Given the description of an element on the screen output the (x, y) to click on. 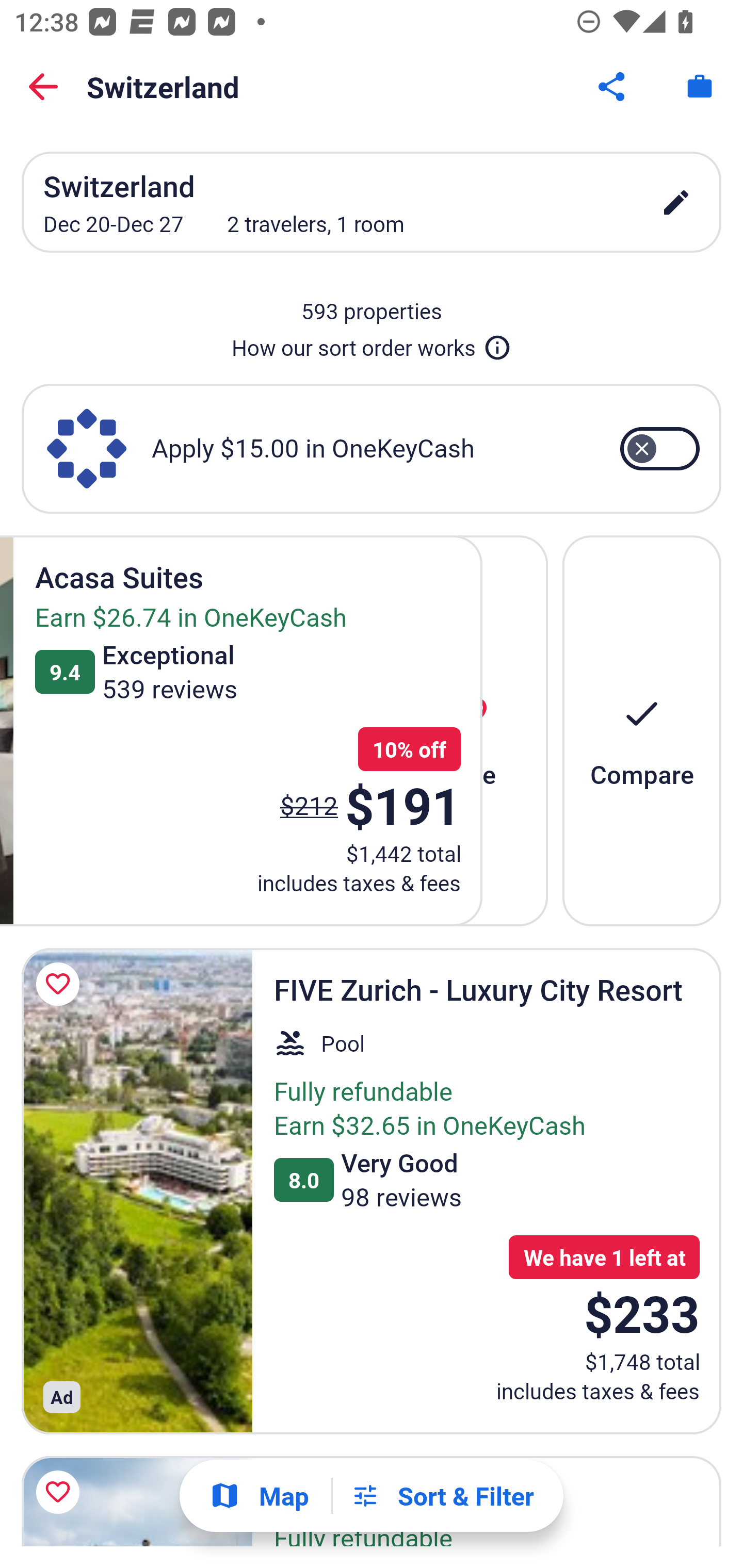
Back (43, 86)
Share Button (612, 86)
Trips. Button (699, 86)
Switzerland Dec 20-Dec 27 2 travelers, 1 room edit (371, 202)
How our sort order works (371, 344)
Save FIVE Zurich - Luxury City Resort to a trip (61, 983)
FIVE Zurich - Luxury City Resort (136, 1191)
Save Hotel Scheuble to a trip (61, 1491)
Filters Sort & Filter Filters Button (442, 1495)
Show map Map Show map Button (258, 1495)
